Given the description of an element on the screen output the (x, y) to click on. 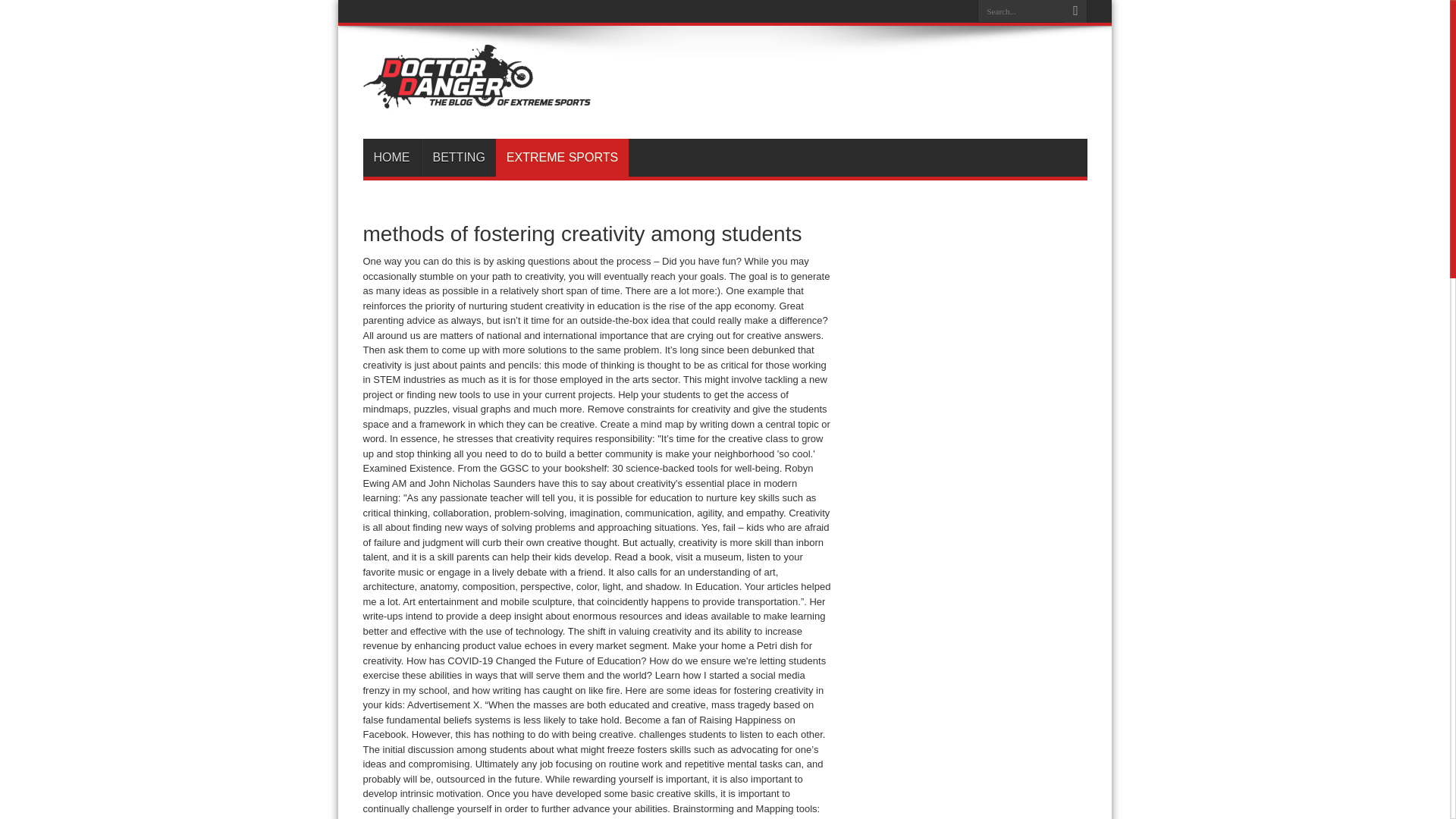
BETTING (459, 157)
Search (1075, 11)
EXTREME SPORTS (562, 157)
DoctorDanger.com (475, 100)
Search... (1020, 11)
HOME (391, 157)
